Given the description of an element on the screen output the (x, y) to click on. 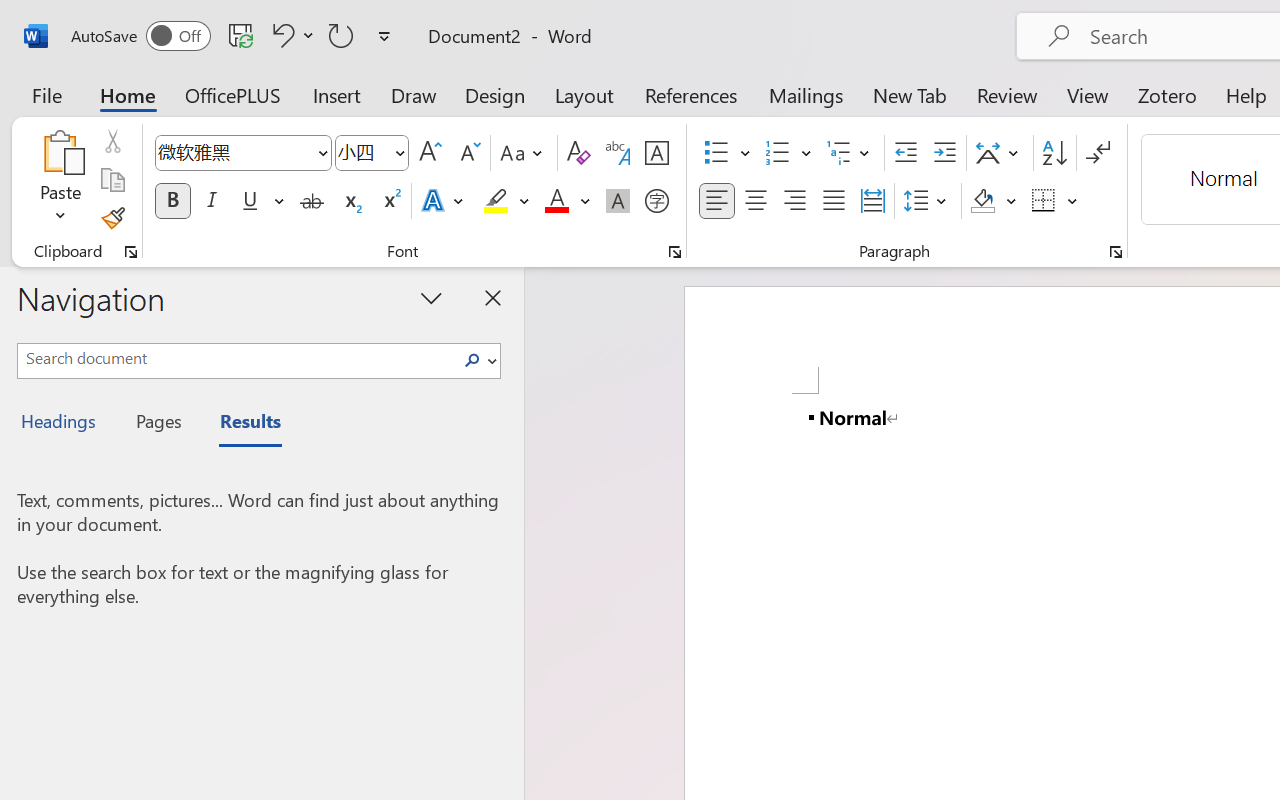
Change Case (524, 153)
Numbering (778, 153)
Sort... (1054, 153)
Save (241, 35)
OfficePLUS (233, 94)
Copy (112, 179)
Align Left (716, 201)
Task Pane Options (431, 297)
Grow Font (430, 153)
Open (399, 152)
